Given the description of an element on the screen output the (x, y) to click on. 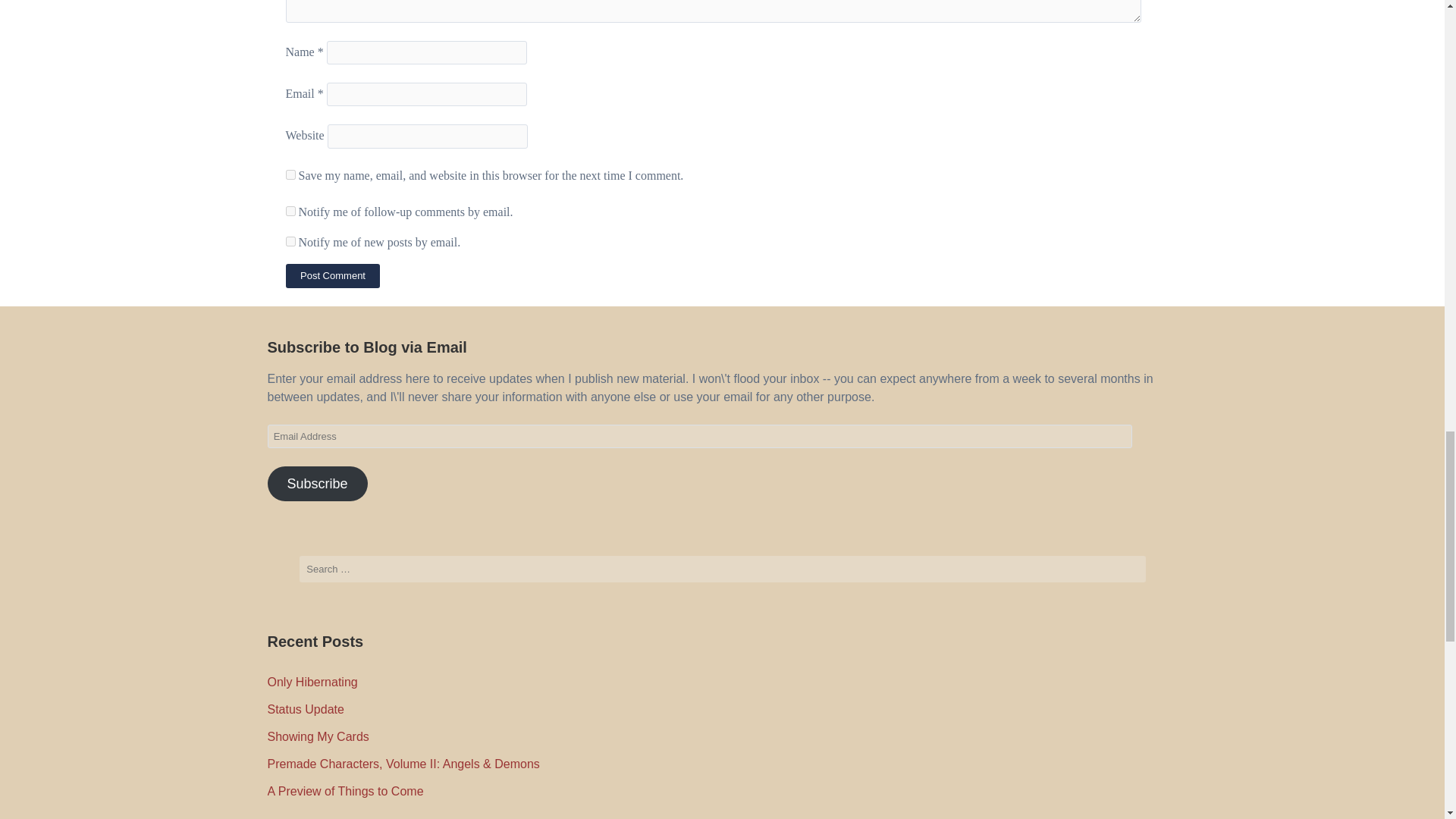
Status Update (304, 708)
subscribe (290, 211)
subscribe (290, 241)
yes (290, 174)
Post Comment (332, 276)
Subscribe (316, 483)
Only Hibernating (311, 681)
A Preview of Things to Come (344, 790)
Showing My Cards (317, 736)
Post Comment (332, 276)
